Given the description of an element on the screen output the (x, y) to click on. 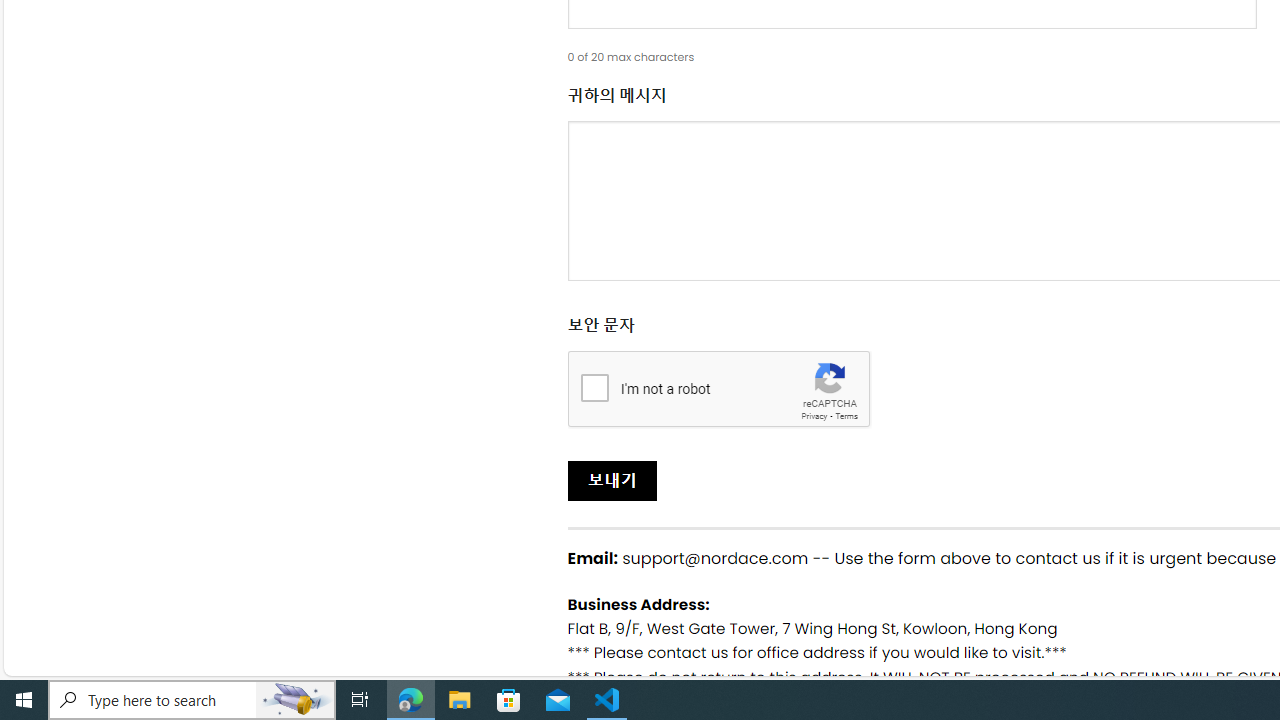
Terms (846, 416)
I'm not a robot (594, 386)
